Given the description of an element on the screen output the (x, y) to click on. 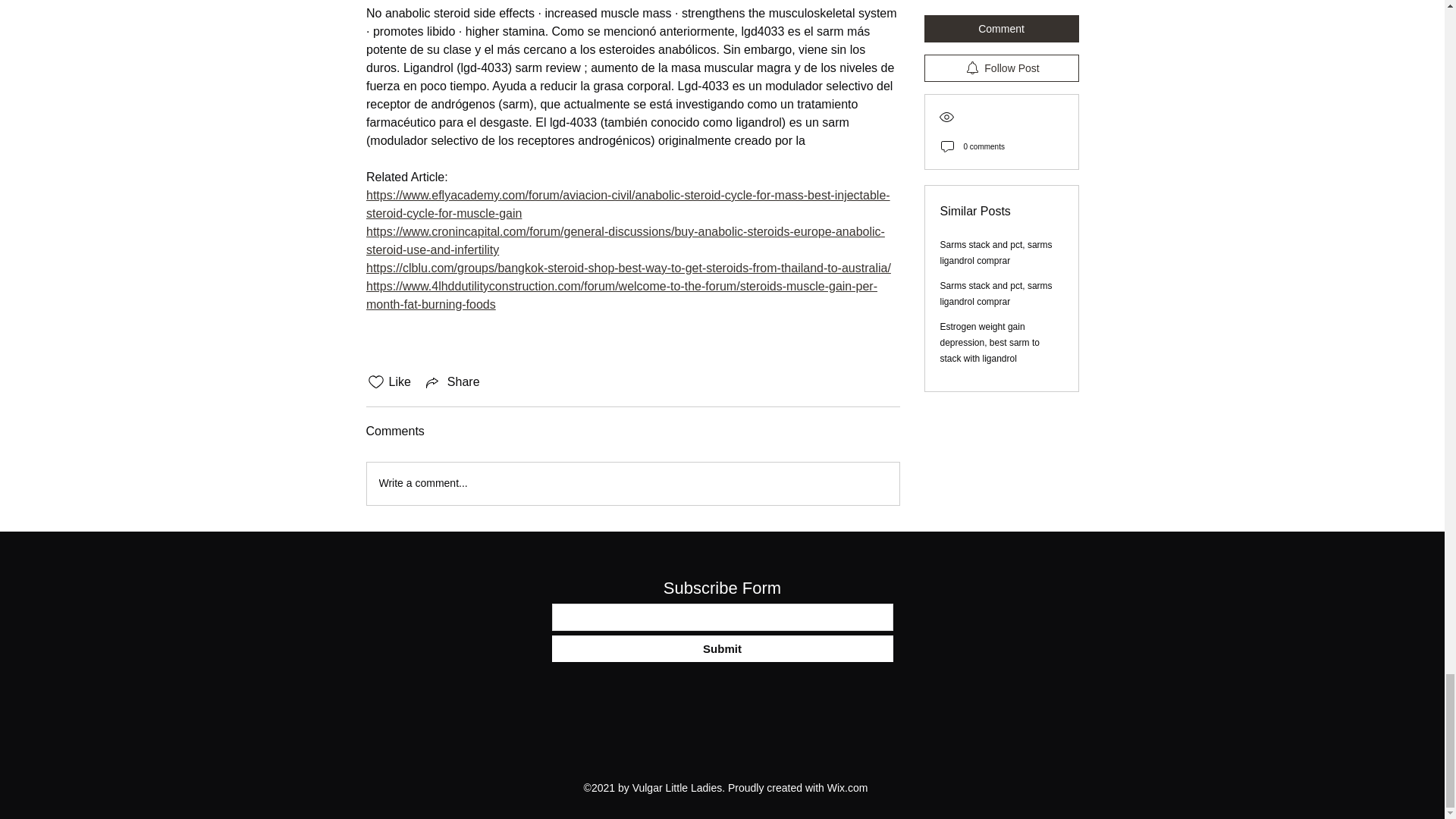
Write a comment... (632, 483)
Submit (722, 648)
Share (451, 382)
